Given the description of an element on the screen output the (x, y) to click on. 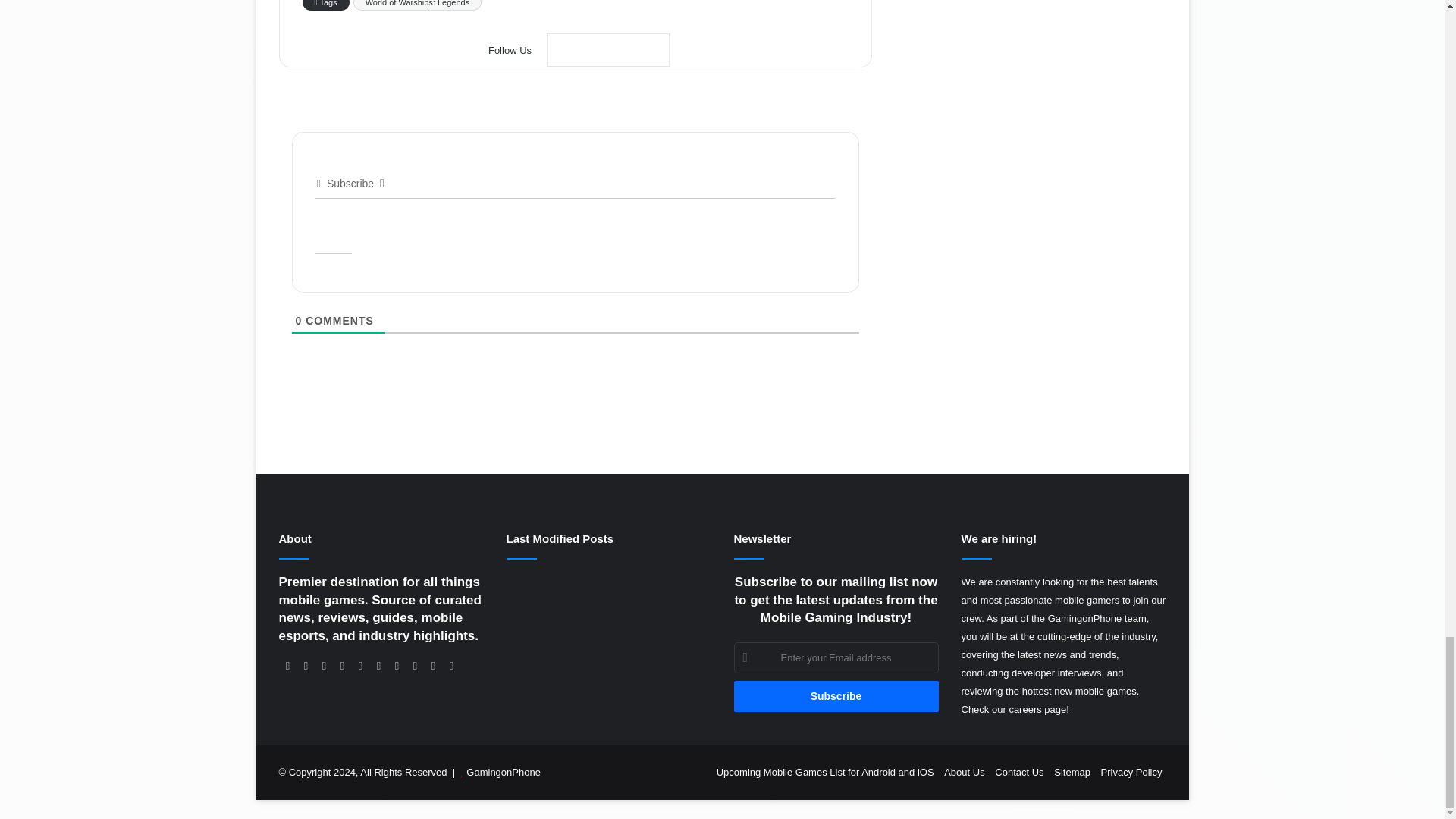
Subscribe (836, 695)
Google News (608, 49)
